Given the description of an element on the screen output the (x, y) to click on. 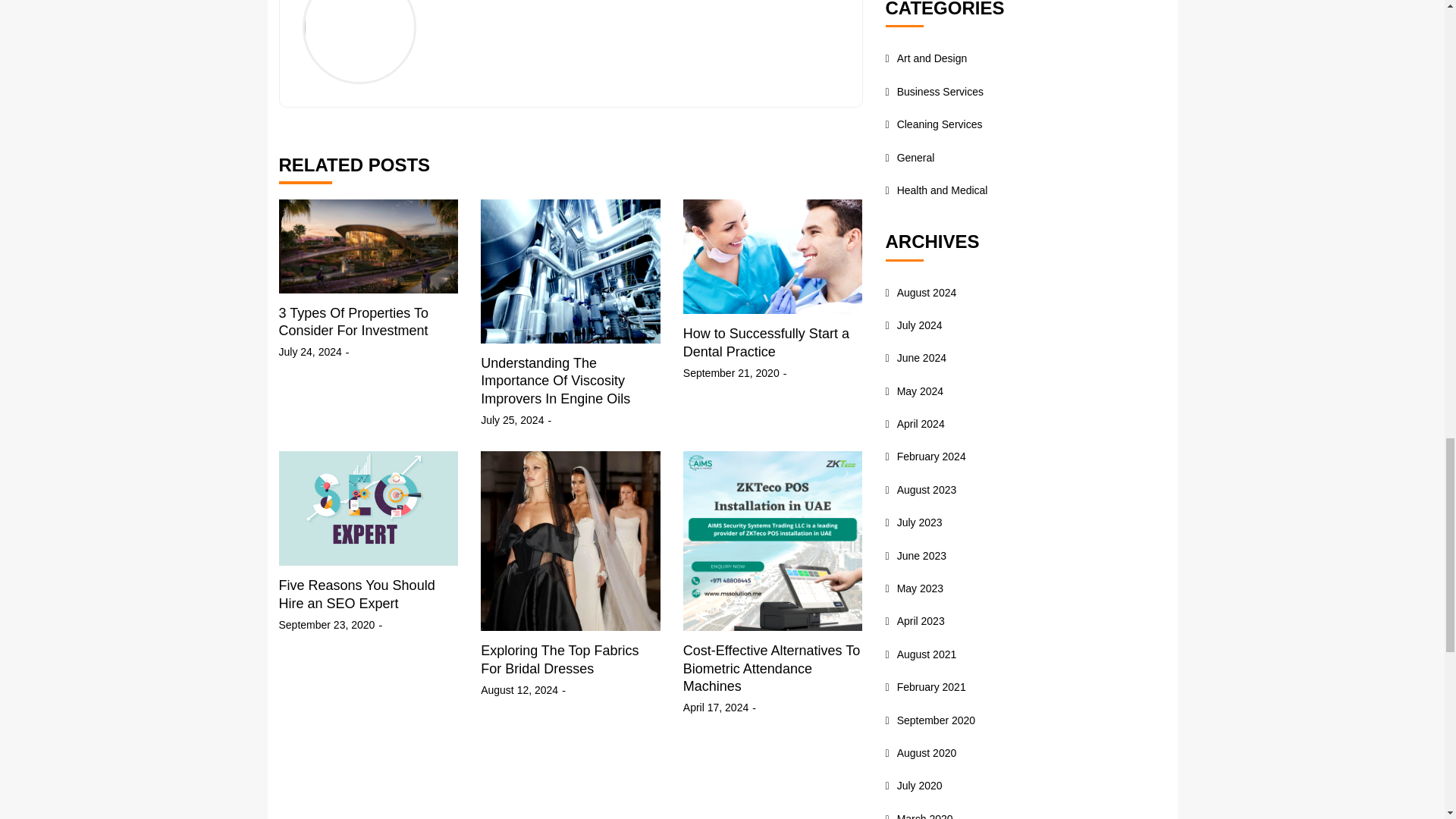
How to Successfully Start a Dental Practice (765, 341)
3 Types Of Properties To Consider For Investment (353, 321)
August 12, 2024 (518, 689)
September 21, 2020 (730, 372)
Cost-Effective Alternatives To Biometric Attendance Machines (771, 667)
July 25, 2024 (511, 419)
Exploring The Top Fabrics For Bridal Dresses (559, 658)
September 23, 2020 (327, 624)
July 24, 2024 (310, 351)
